Given the description of an element on the screen output the (x, y) to click on. 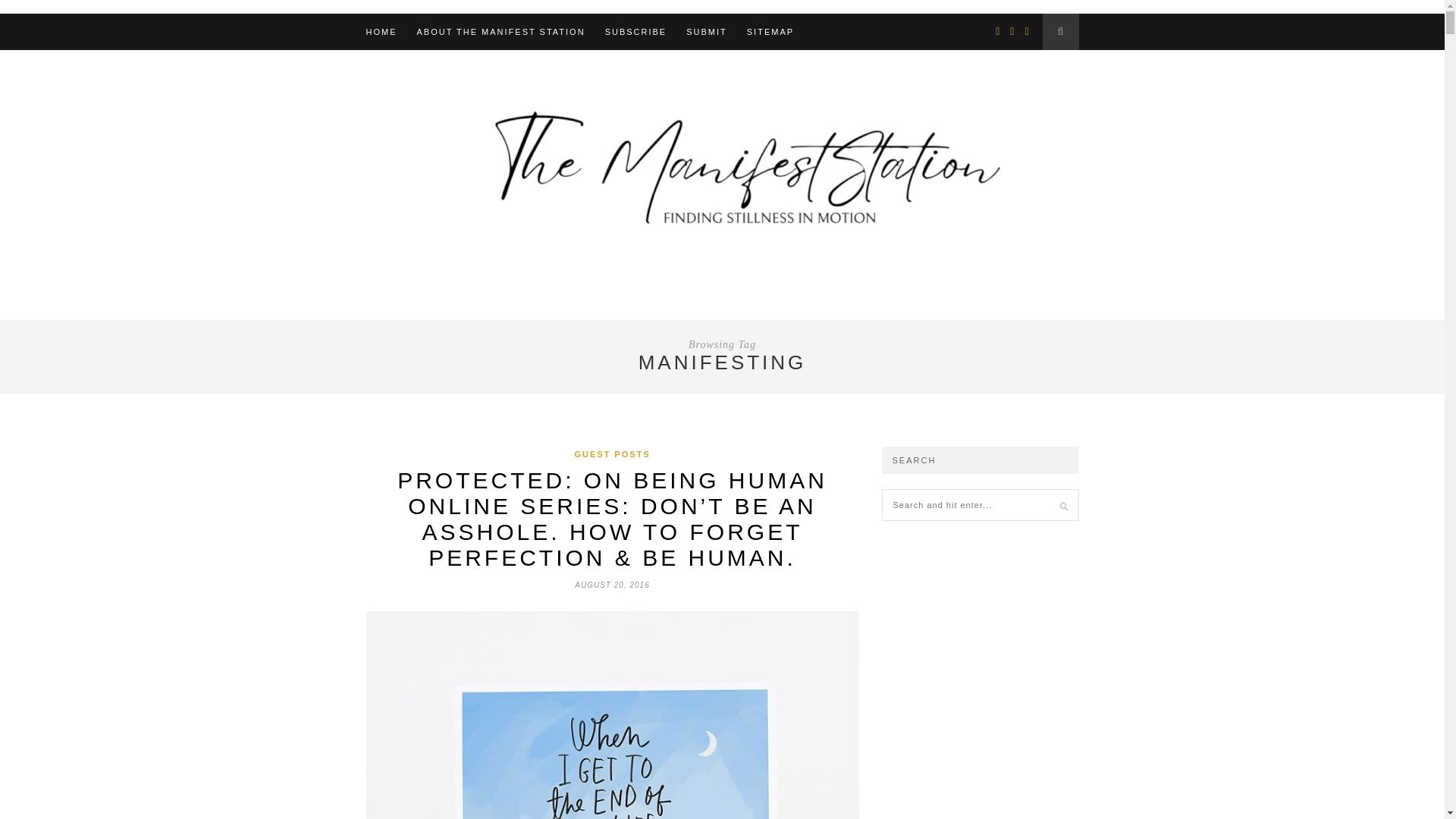
SUBMIT (705, 31)
SUBSCRIBE (635, 31)
ABOUT THE MANIFEST STATION (500, 31)
SITEMAP (769, 31)
GUEST POSTS (611, 453)
View all posts in Guest Posts (611, 453)
